Given the description of an element on the screen output the (x, y) to click on. 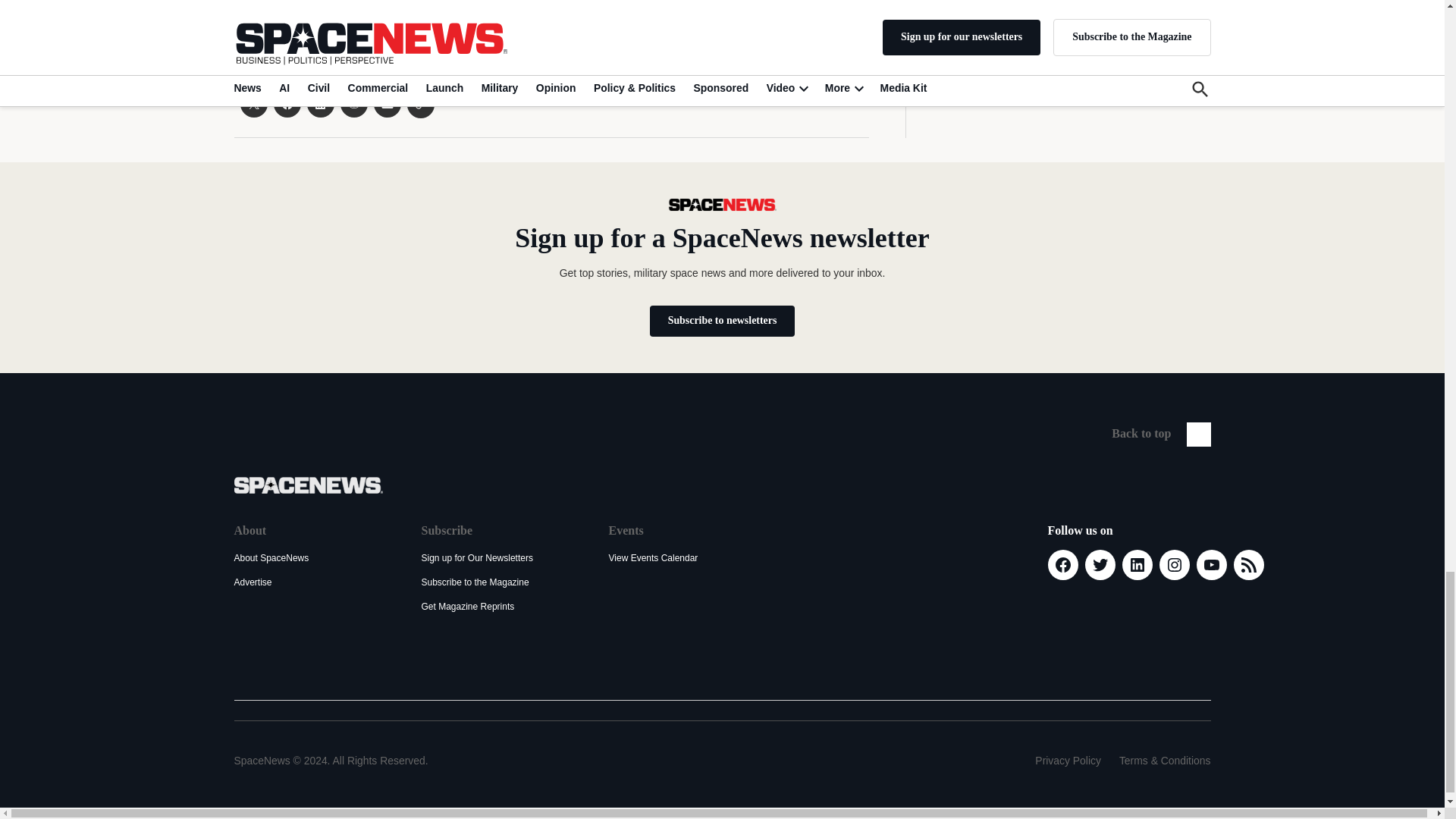
Click to share on Reddit (352, 103)
Click to share on X (253, 103)
Click to share on LinkedIn (319, 103)
Click to share on Facebook (286, 103)
Click to share on Clipboard (419, 103)
Click to email a link to a friend (386, 103)
